Given the description of an element on the screen output the (x, y) to click on. 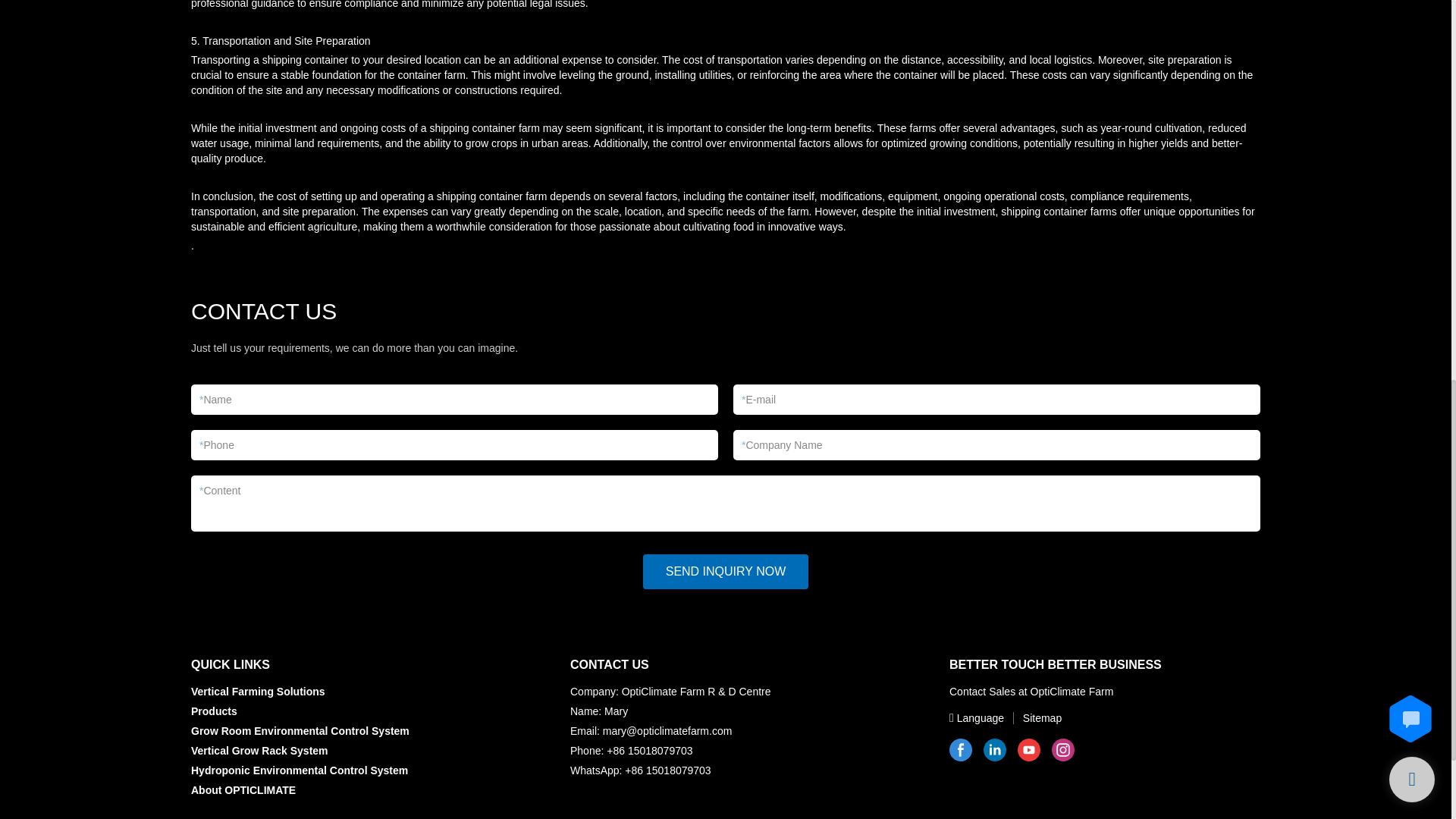
Vertical Grow Rack System (259, 750)
Language (978, 717)
Sitemap (1034, 717)
SEND INQUIRY NOW (726, 571)
About OPTICLIMATE (242, 789)
Grow Room Environmental Control System (299, 730)
Hydroponic Environmental Control System (298, 770)
Products (213, 711)
Vertical Farming Solutions (257, 691)
